Given the description of an element on the screen output the (x, y) to click on. 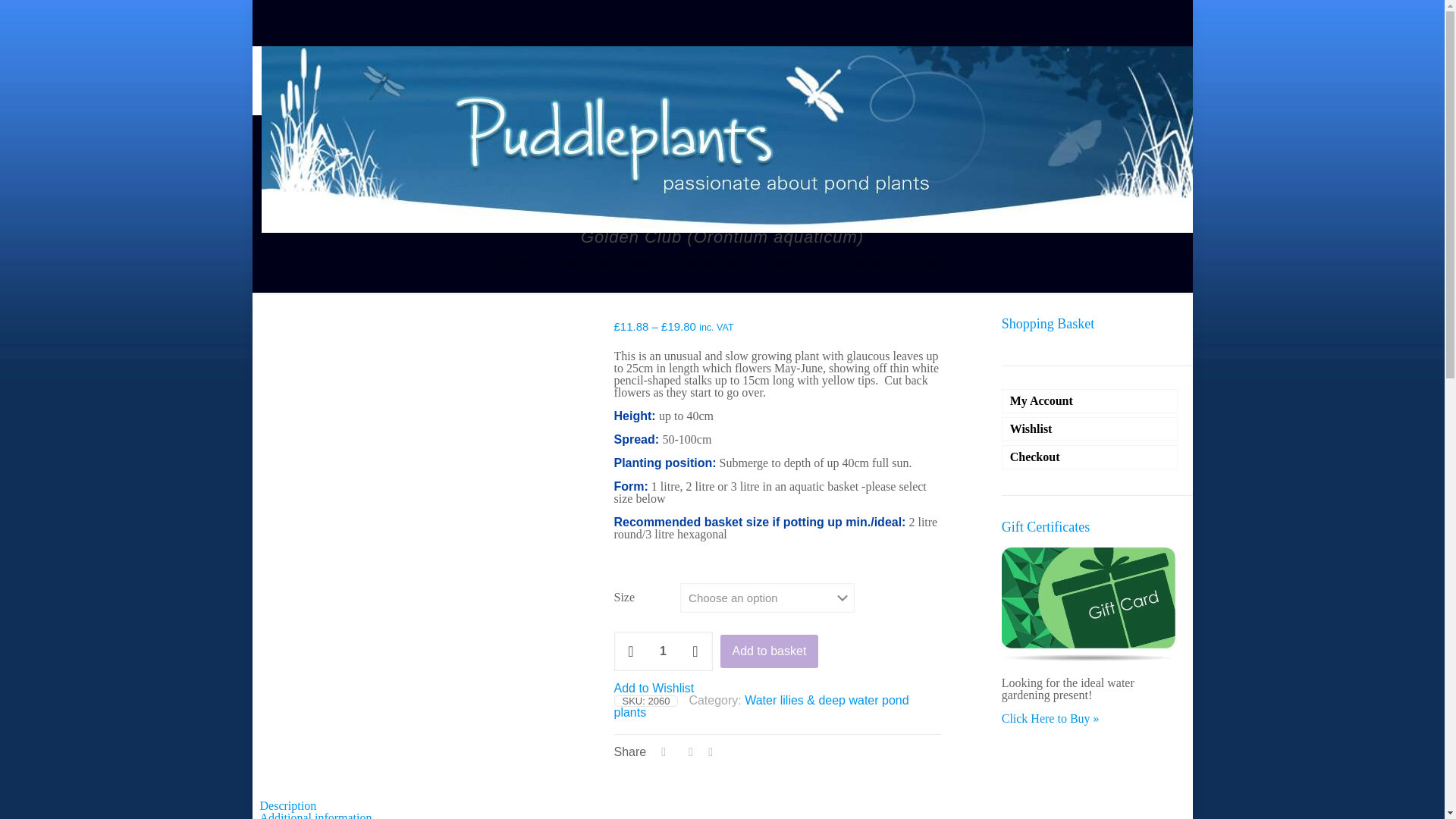
Home (515, 263)
Add to Wishlist (654, 687)
Additional information (315, 815)
Description (287, 805)
1 (663, 650)
My Account (1089, 401)
Wishlist (1089, 428)
Add to basket (769, 651)
